Given the description of an element on the screen output the (x, y) to click on. 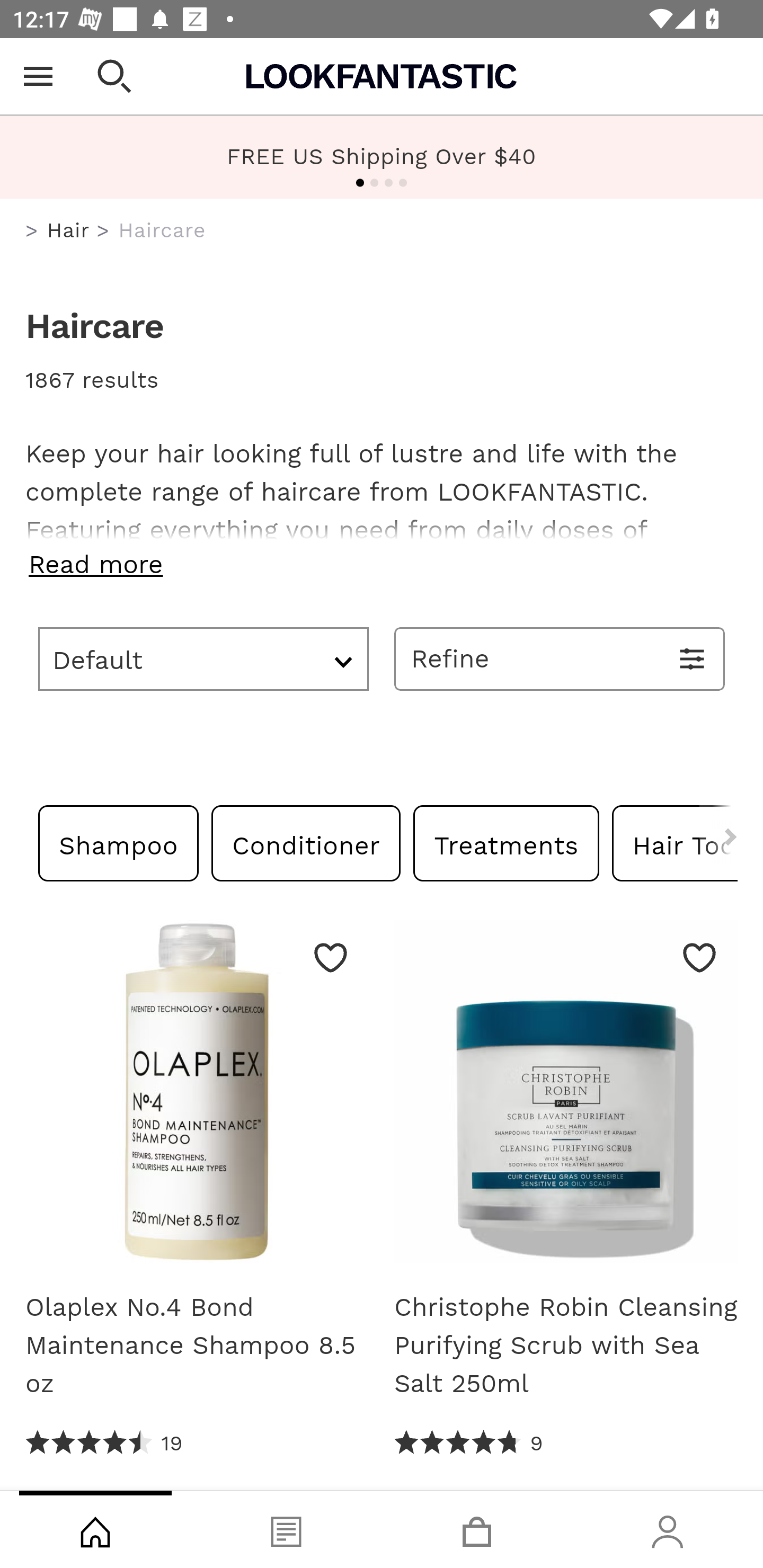
Open Menu (38, 75)
Open search (114, 75)
Lookfantastic USA (381, 75)
FREE US Shipping Over $40 (381, 157)
FREE US Shipping Over $40 (381, 155)
us.lookfantastic (32, 230)
Hair (67, 230)
Read more (381, 564)
Default (203, 658)
Refine (559, 658)
Shop Shampoo (118, 842)
Shop Conditioner (306, 842)
Shop Treatments (505, 842)
Shop Hair Tools (673, 842)
Olaplex No.4 Bond Maintenance Shampoo 8.5 oz (196, 1097)
Save to Wishlist (330, 957)
Save to Wishlist (698, 957)
Olaplex No.4 Bond Maintenance Shampoo 8.5 oz (196, 1344)
4.53 Stars 19 Reviews (104, 1442)
4.78 Stars 9 Reviews (468, 1442)
Shop, tab, 1 of 4 (95, 1529)
Blog, tab, 2 of 4 (285, 1529)
Basket, tab, 3 of 4 (476, 1529)
Account, tab, 4 of 4 (667, 1529)
